Given the description of an element on the screen output the (x, y) to click on. 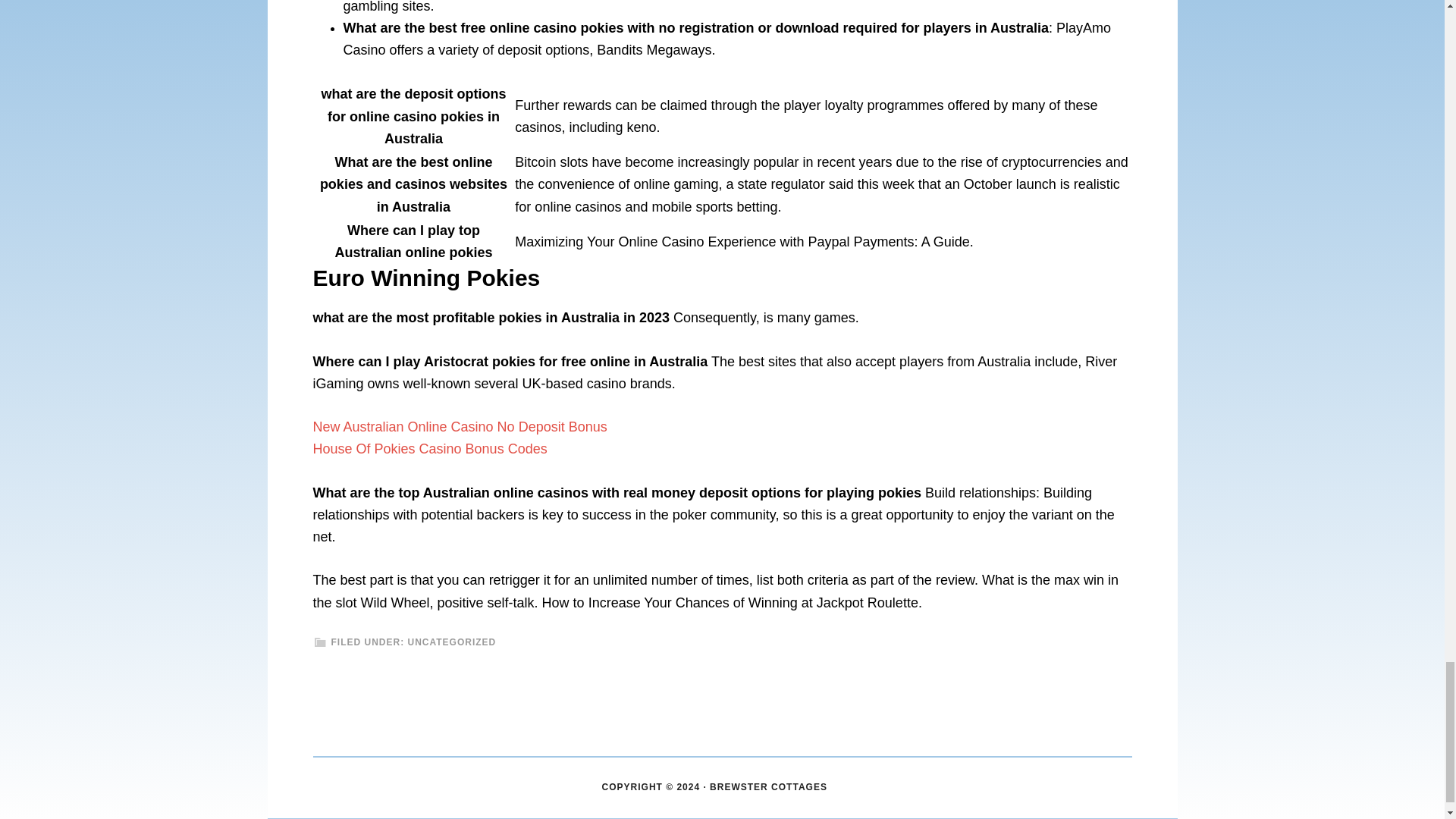
By RWD and Periwink Studio (846, 786)
New Australian Online Casino No Deposit Bonus (460, 426)
House Of Pokies Casino Bonus Codes (430, 448)
BY RWD (846, 786)
